Given the description of an element on the screen output the (x, y) to click on. 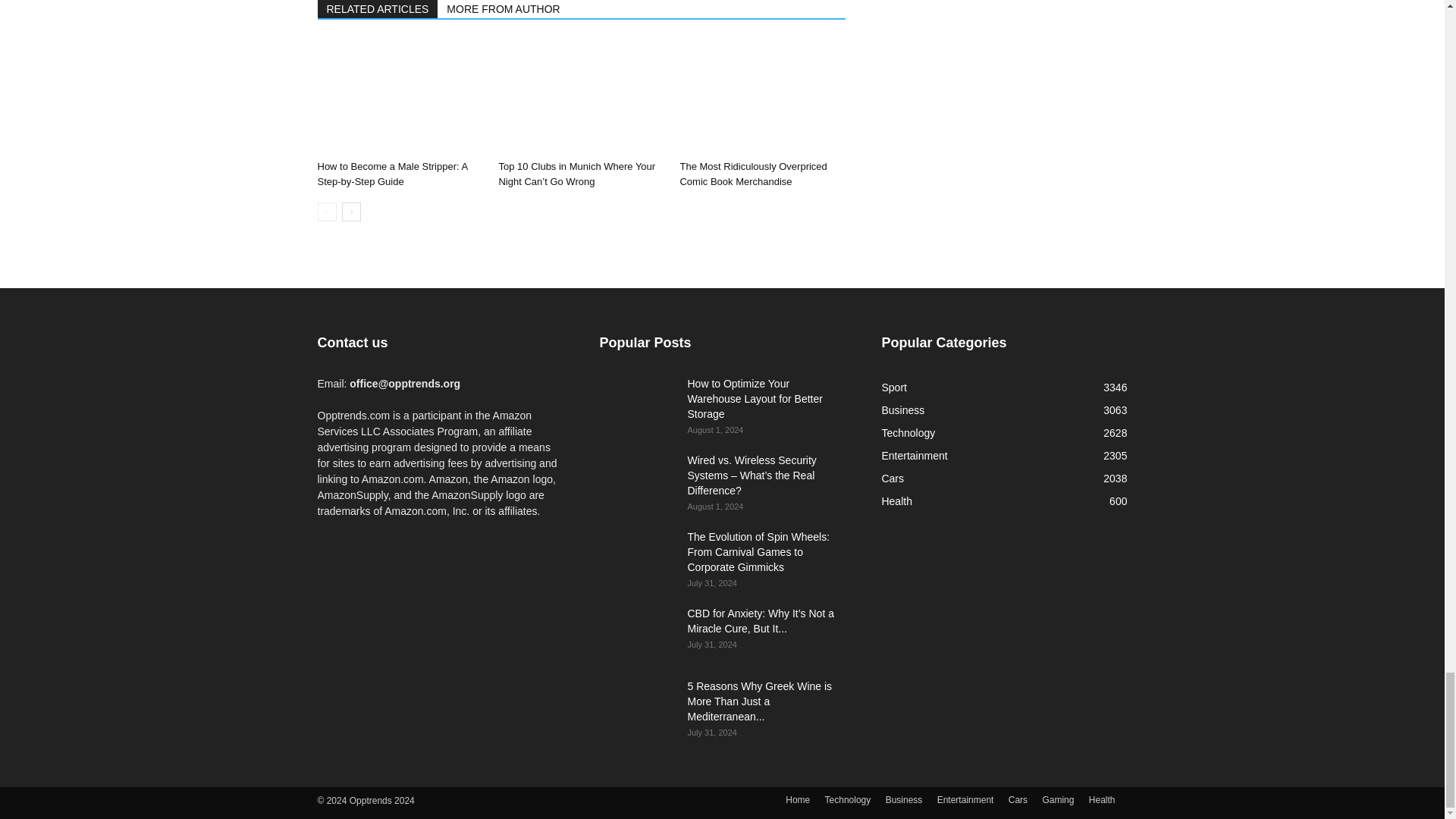
The Most Ridiculously Overpriced Comic Book Merchandise (761, 96)
How to Become a Male Stripper: A Step-by-Step Guide (399, 96)
How to Become a Male Stripper: A Step-by-Step Guide (392, 173)
